Given the description of an element on the screen output the (x, y) to click on. 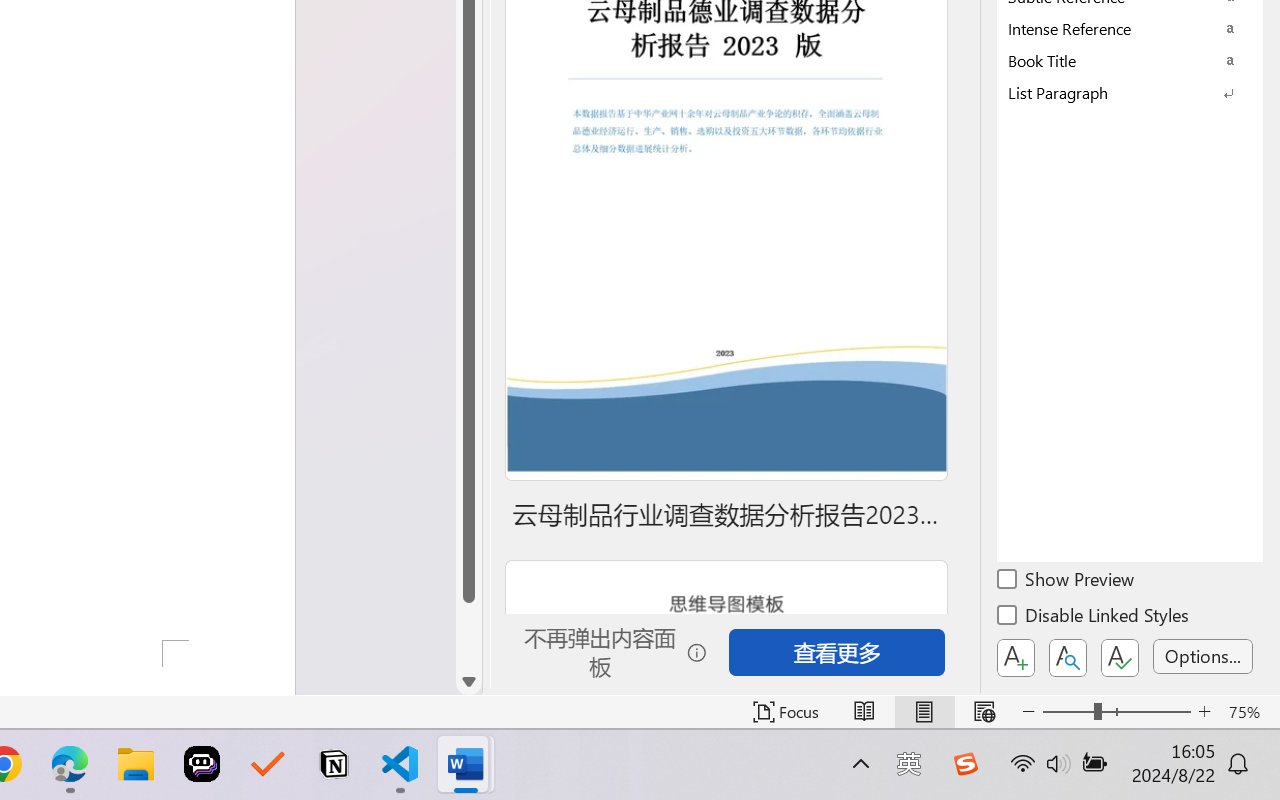
Web Layout (984, 712)
Class: NetUIButton (1119, 657)
List Paragraph (1130, 92)
Class: Image (965, 764)
Read Mode (864, 712)
Focus  (786, 712)
Zoom (1116, 712)
Page down (468, 635)
Intense Reference (1130, 28)
Zoom Out (1067, 712)
Disable Linked Styles (1094, 618)
Show Preview (1067, 582)
Zoom In (1204, 712)
Class: NetUIImage (1116, 92)
